Given the description of an element on the screen output the (x, y) to click on. 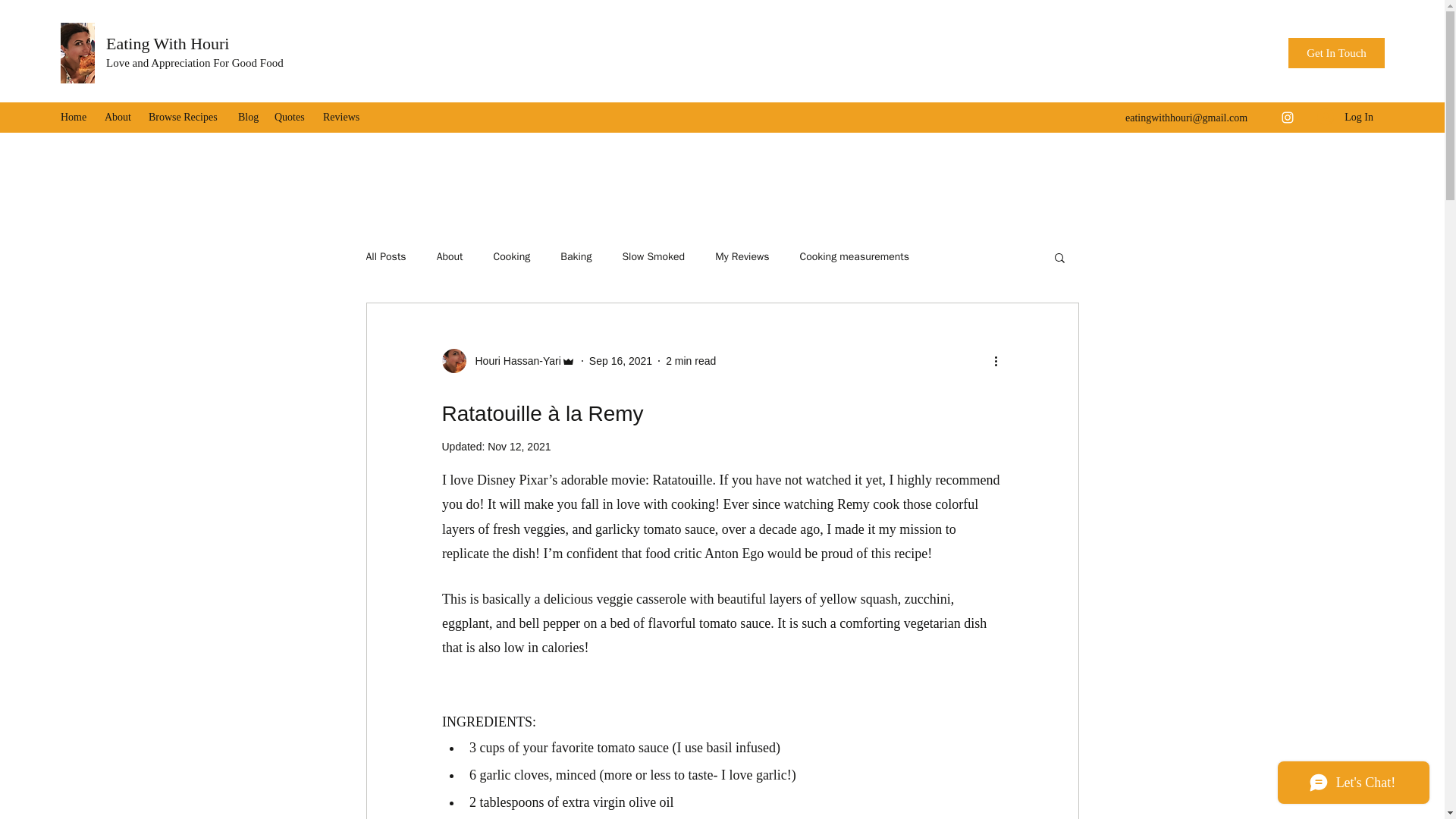
All Posts (385, 256)
Reviews (342, 117)
My Reviews (741, 256)
Sep 16, 2021 (620, 360)
Houri Hassan-Yari (508, 360)
2 min read (690, 360)
Quotes (290, 117)
Nov 12, 2021 (518, 446)
Slow Smoked (652, 256)
About (449, 256)
